Given the description of an element on the screen output the (x, y) to click on. 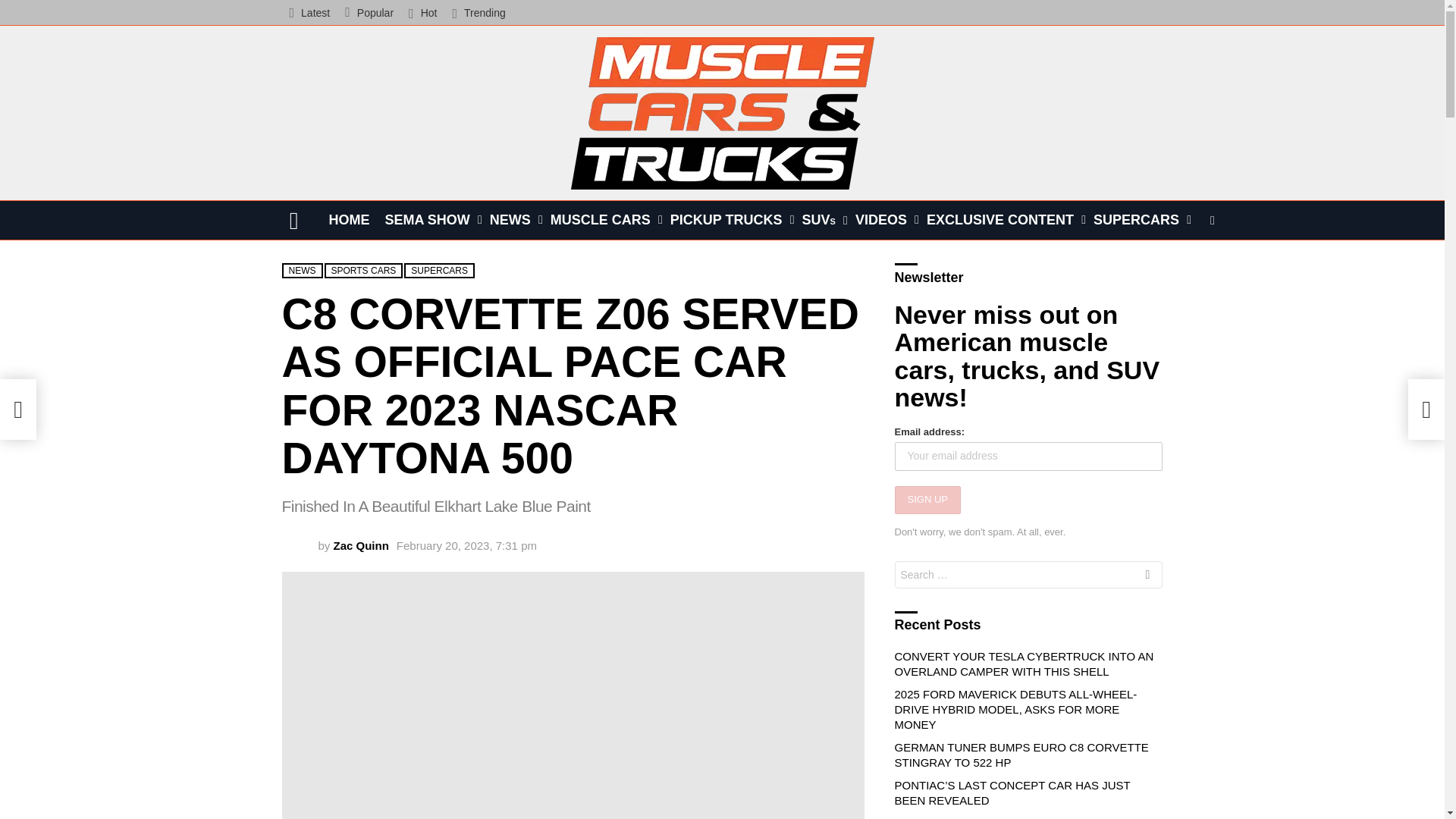
Trending (478, 12)
Sign up (402, 338)
Latest (309, 12)
Popular (369, 12)
Sign up (927, 500)
SEMA SHOW (429, 219)
MUSCLE CARS (602, 219)
HOME (349, 219)
Hot (422, 12)
NEWS (512, 219)
